Given the description of an element on the screen output the (x, y) to click on. 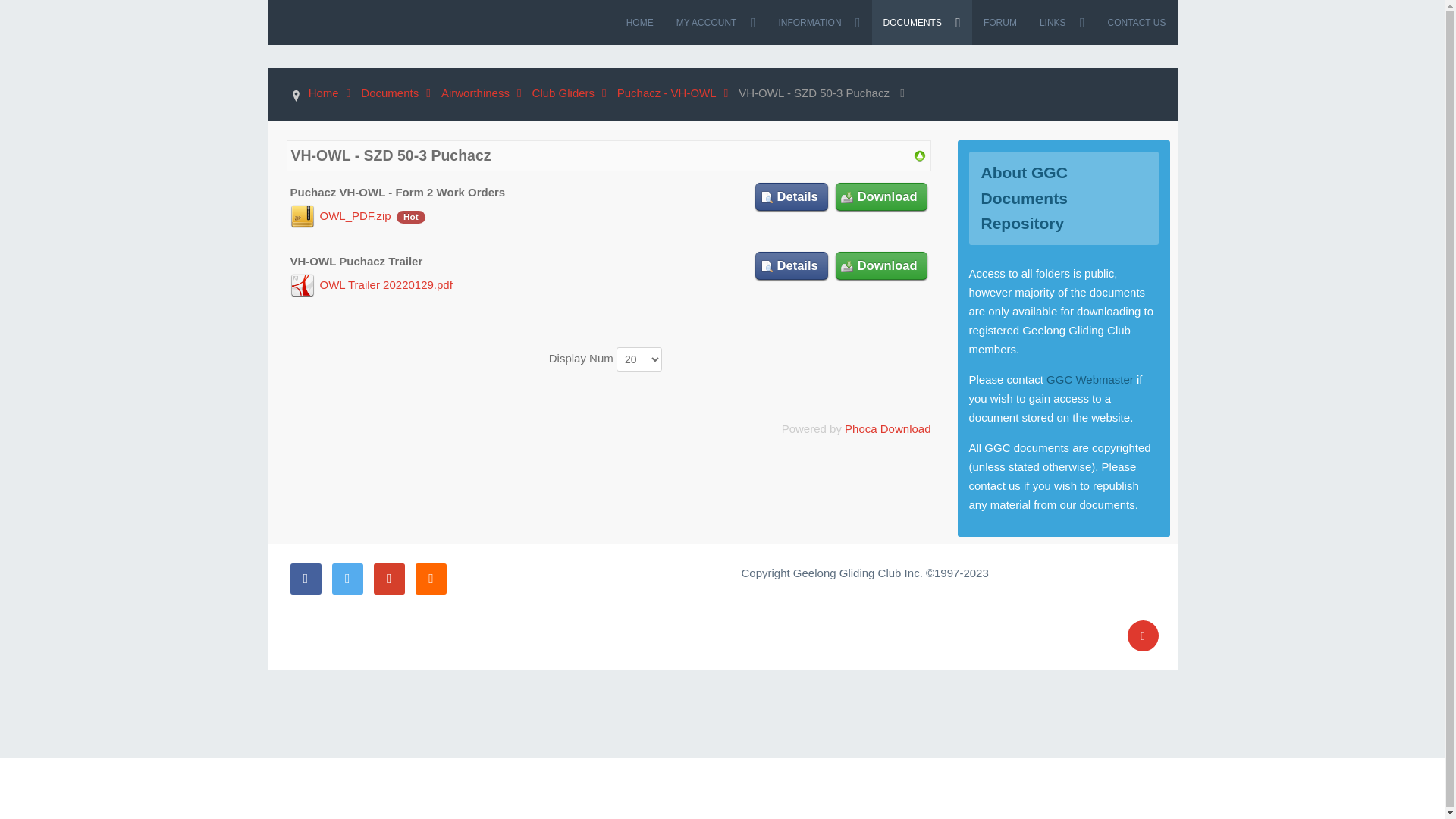
Details Element type: text (791, 265)
Club Gliders Element type: hover (919, 154)
Puchacz - VH-OWL Element type: text (676, 92)
DOCUMENTS Element type: text (922, 22)
HOME Element type: text (640, 22)
CONTACT US Element type: text (1136, 22)
Club Gliders Element type: text (573, 92)
MY ACCOUNT Element type: text (716, 22)
LINKS Element type: text (1062, 22)
Documents Element type: text (398, 92)
Download Element type: text (881, 196)
Airworthiness Element type: text (485, 92)
GGC Webmaster Element type: text (1089, 379)
OWL Trailer 20220129.pdf Element type: text (386, 284)
Home Element type: text (333, 92)
INFORMATION Element type: text (818, 22)
Details Element type: text (791, 196)
OWL_PDF.zip Element type: text (355, 215)
Phoca Download Element type: text (887, 428)
Download Element type: text (881, 265)
FORUM Element type: text (1000, 22)
